Given the description of an element on the screen output the (x, y) to click on. 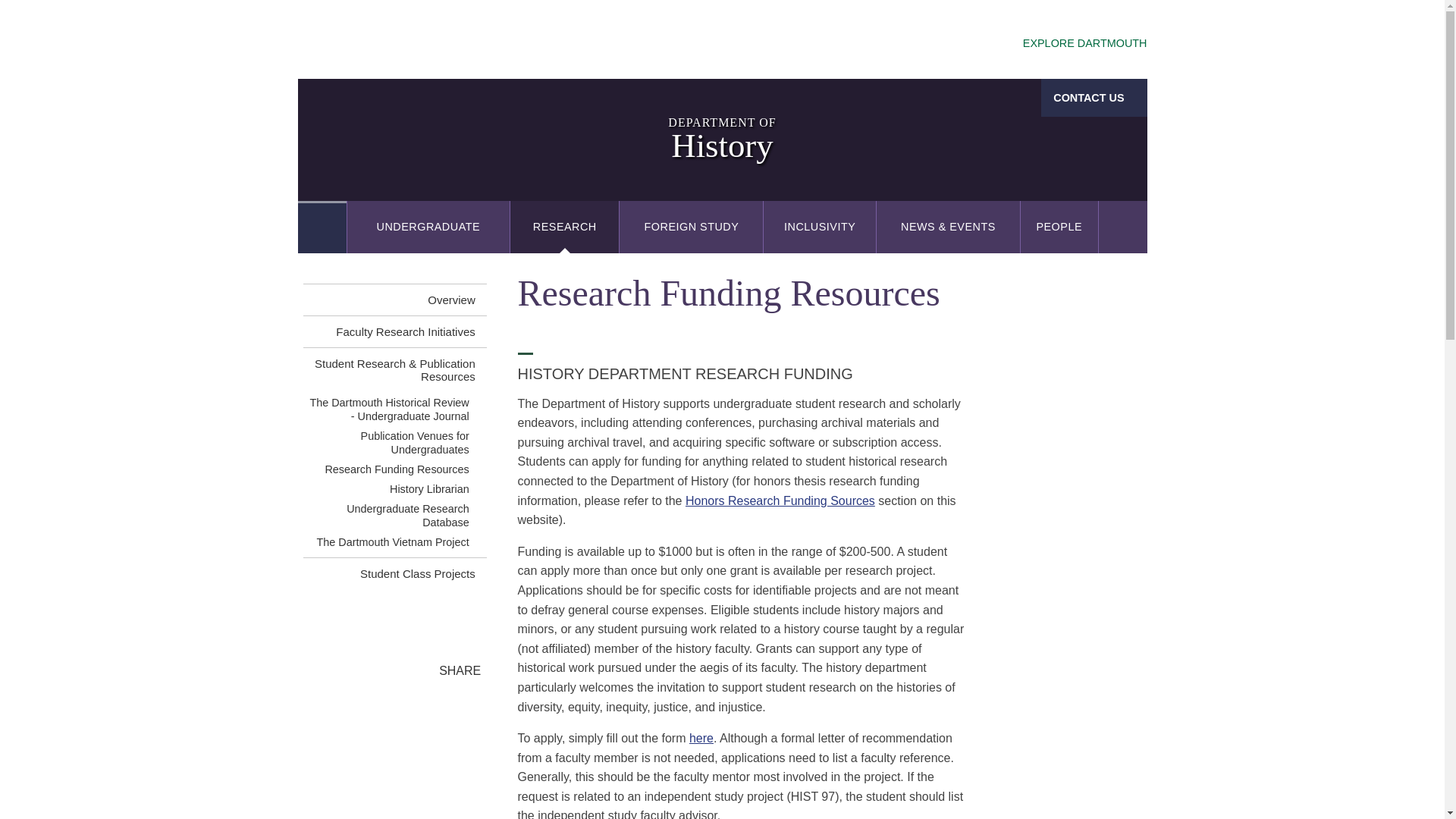
Home (321, 226)
application form (700, 738)
Dartmouth College (417, 41)
EXPLORE DARTMOUTH (1071, 43)
